Given the description of an element on the screen output the (x, y) to click on. 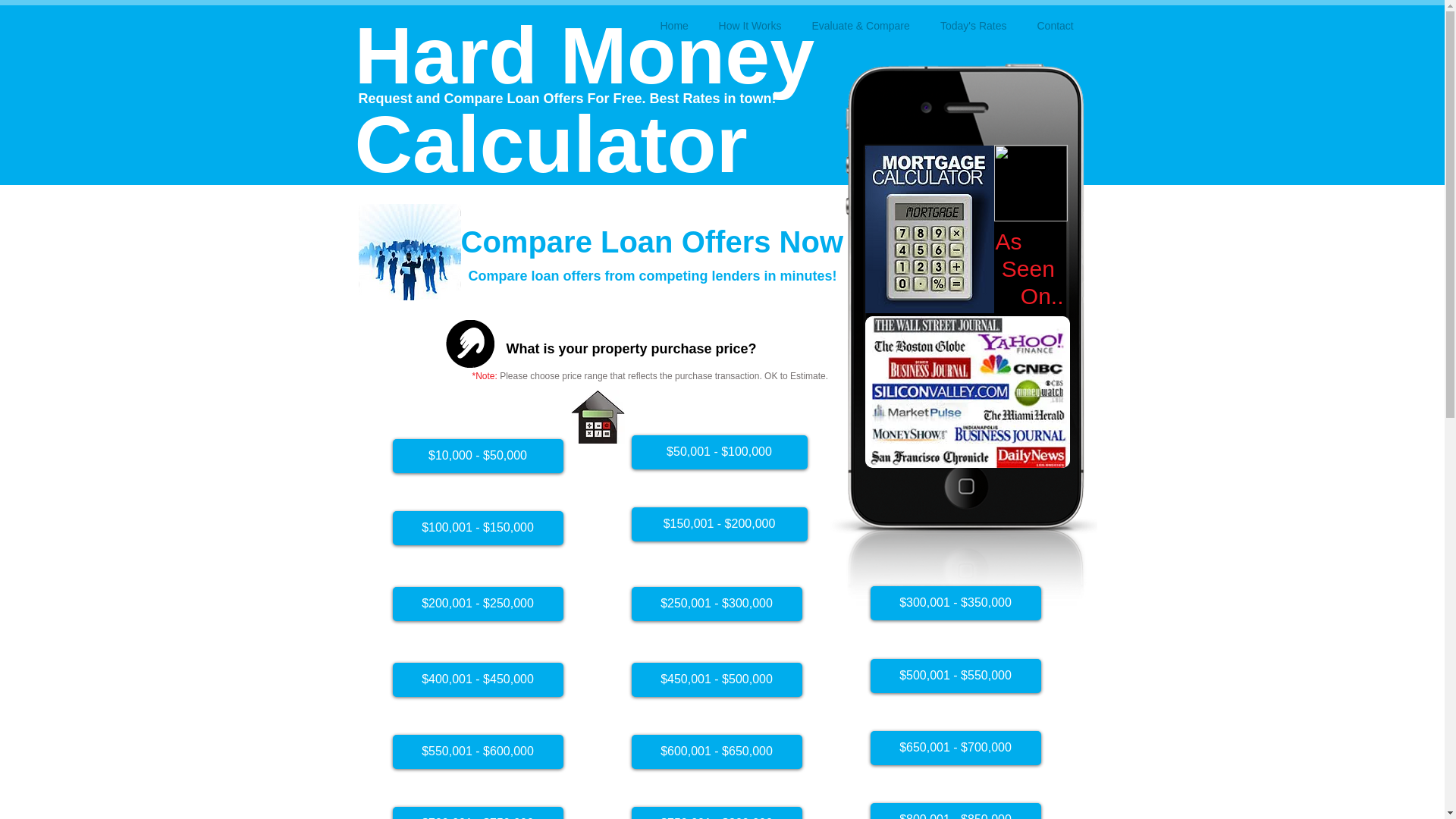
Home (674, 25)
Today's Rates (973, 25)
How It Works (749, 25)
Contact (1055, 25)
